Given the description of an element on the screen output the (x, y) to click on. 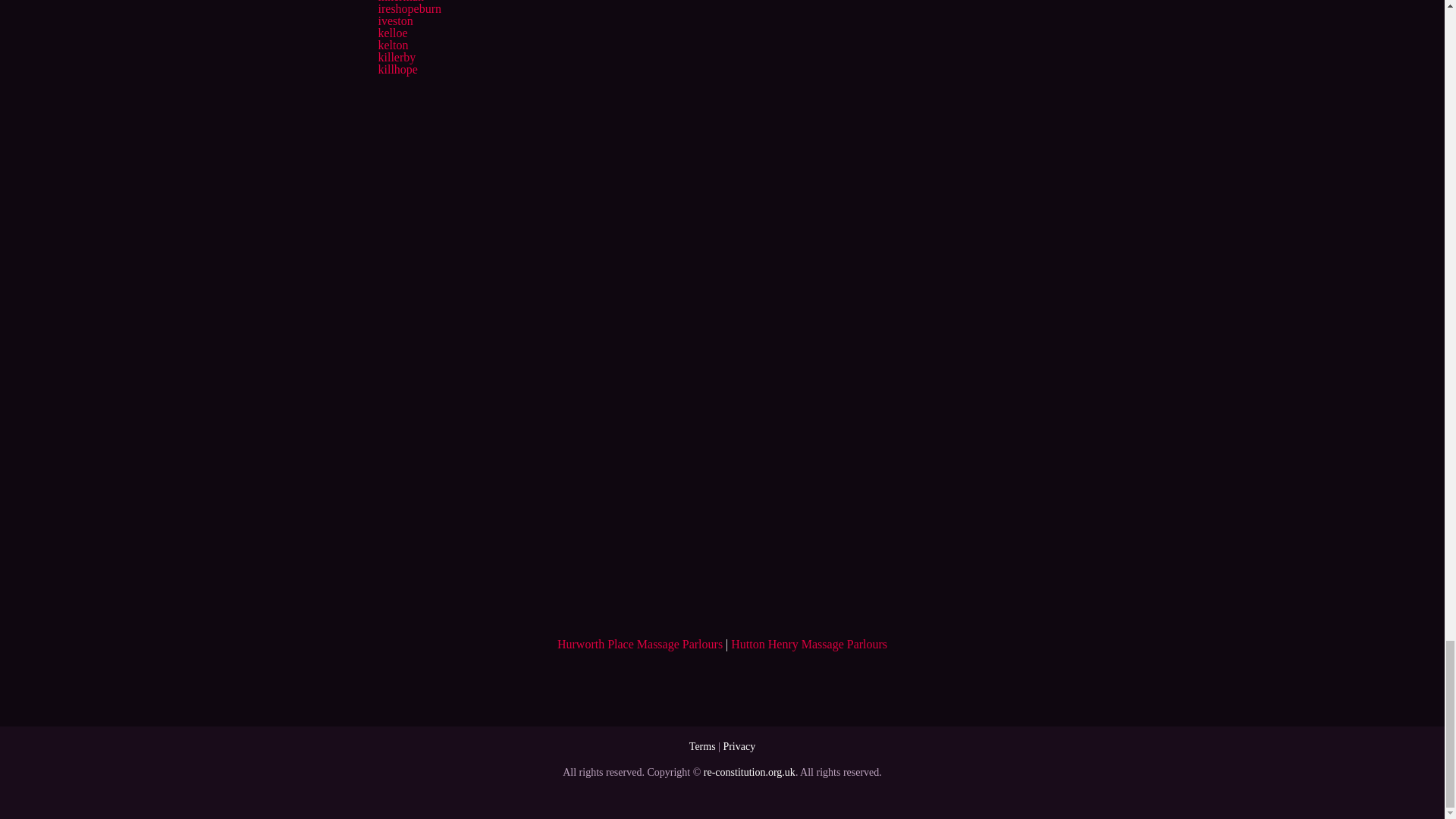
Privacy (738, 746)
inkerman (400, 1)
iveston (394, 20)
Terms (702, 746)
Hurworth Place Massage Parlours (639, 644)
Hutton Henry Massage Parlours (808, 644)
Terms (702, 746)
killerby (395, 56)
kelloe (392, 32)
kelton (392, 44)
ireshopeburn (409, 8)
re-constitution.org.uk (748, 772)
Privacy (738, 746)
killhope (396, 69)
